Given the description of an element on the screen output the (x, y) to click on. 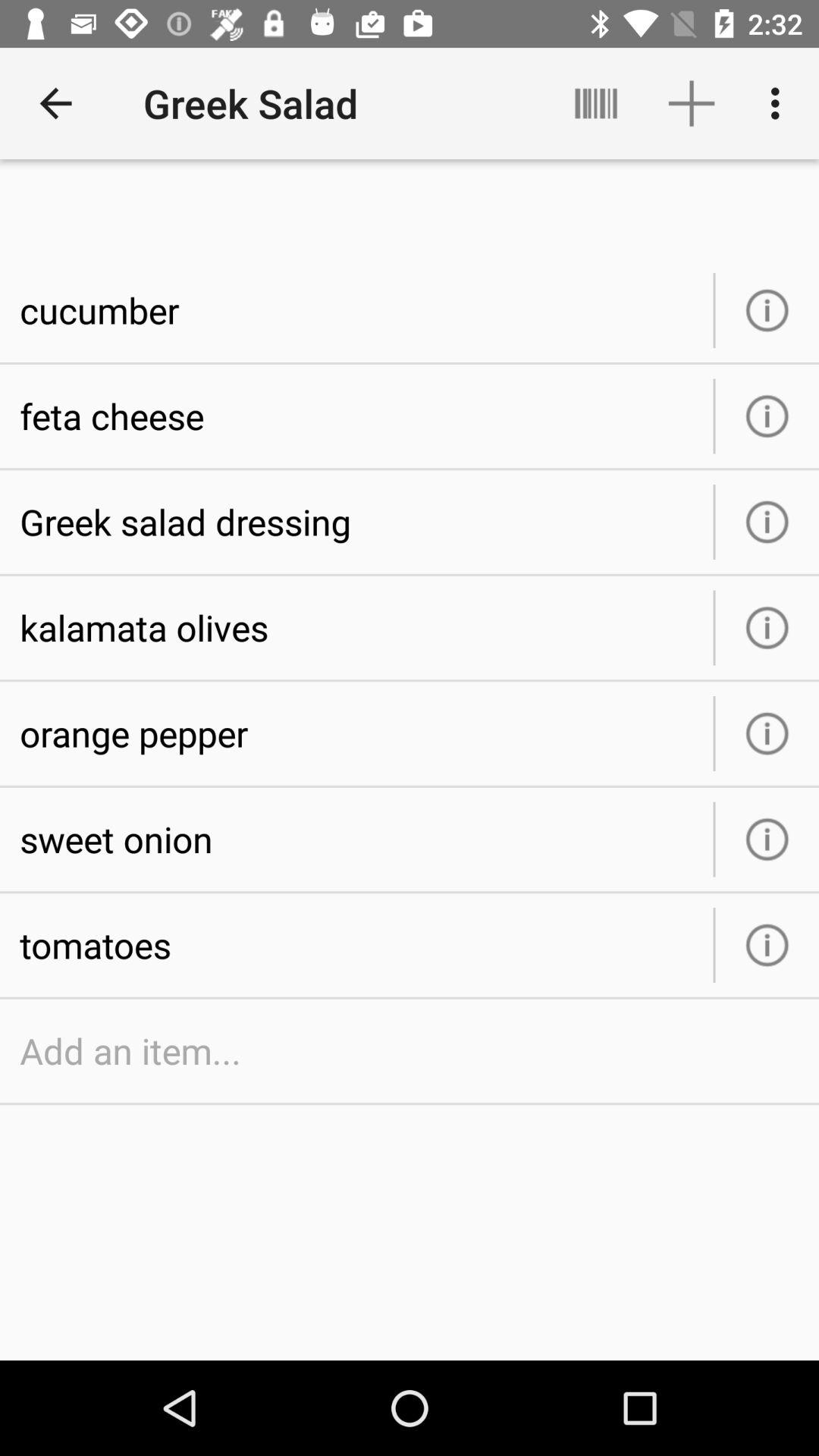
turn on the item to the left of the greek salad icon (55, 103)
